Given the description of an element on the screen output the (x, y) to click on. 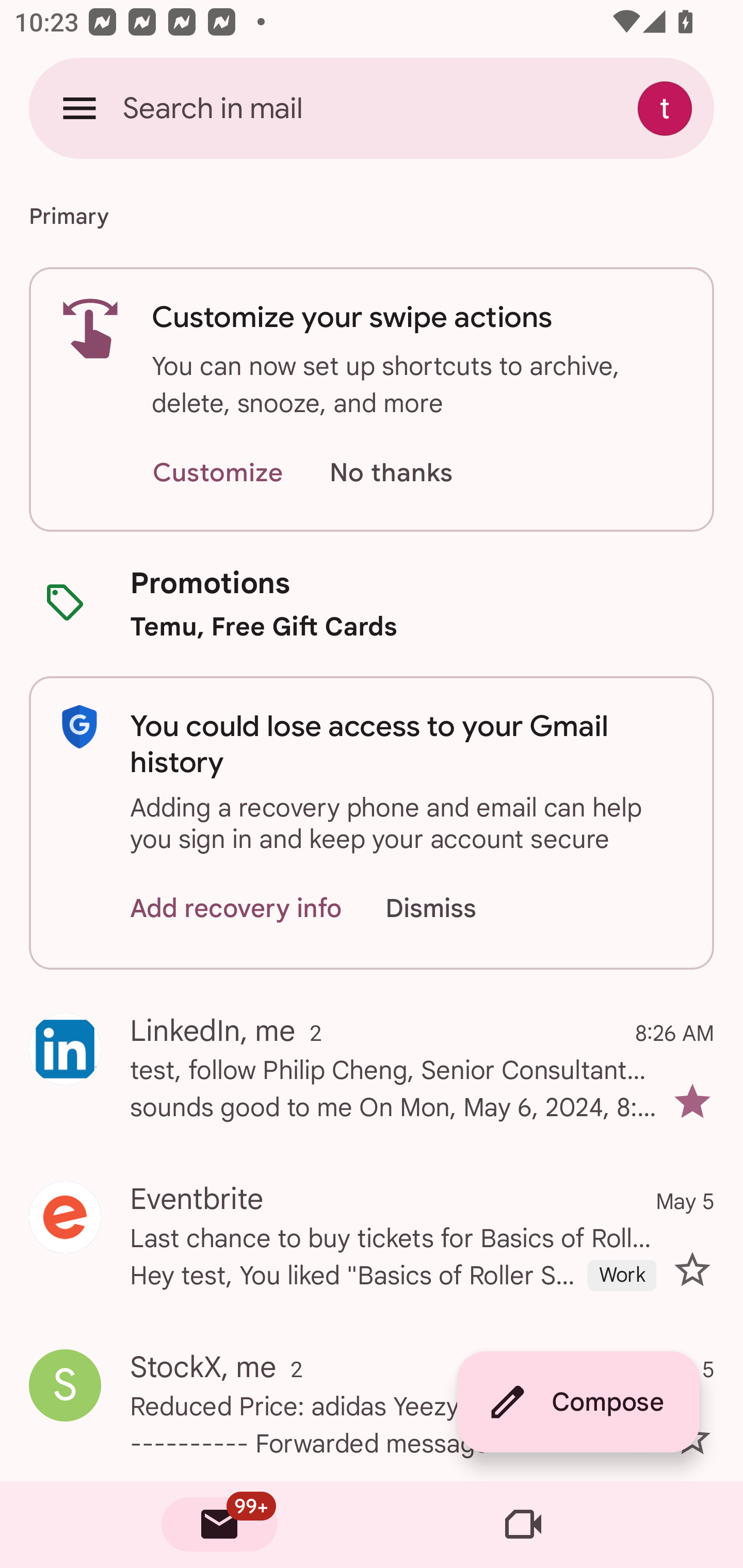
Open navigation drawer (79, 108)
Customize (217, 473)
No thanks (390, 473)
Promotions Temu, Free Gift Cards (371, 603)
Add recovery info (235, 908)
Dismiss (449, 908)
Compose (577, 1401)
Meet (523, 1524)
